Given the description of an element on the screen output the (x, y) to click on. 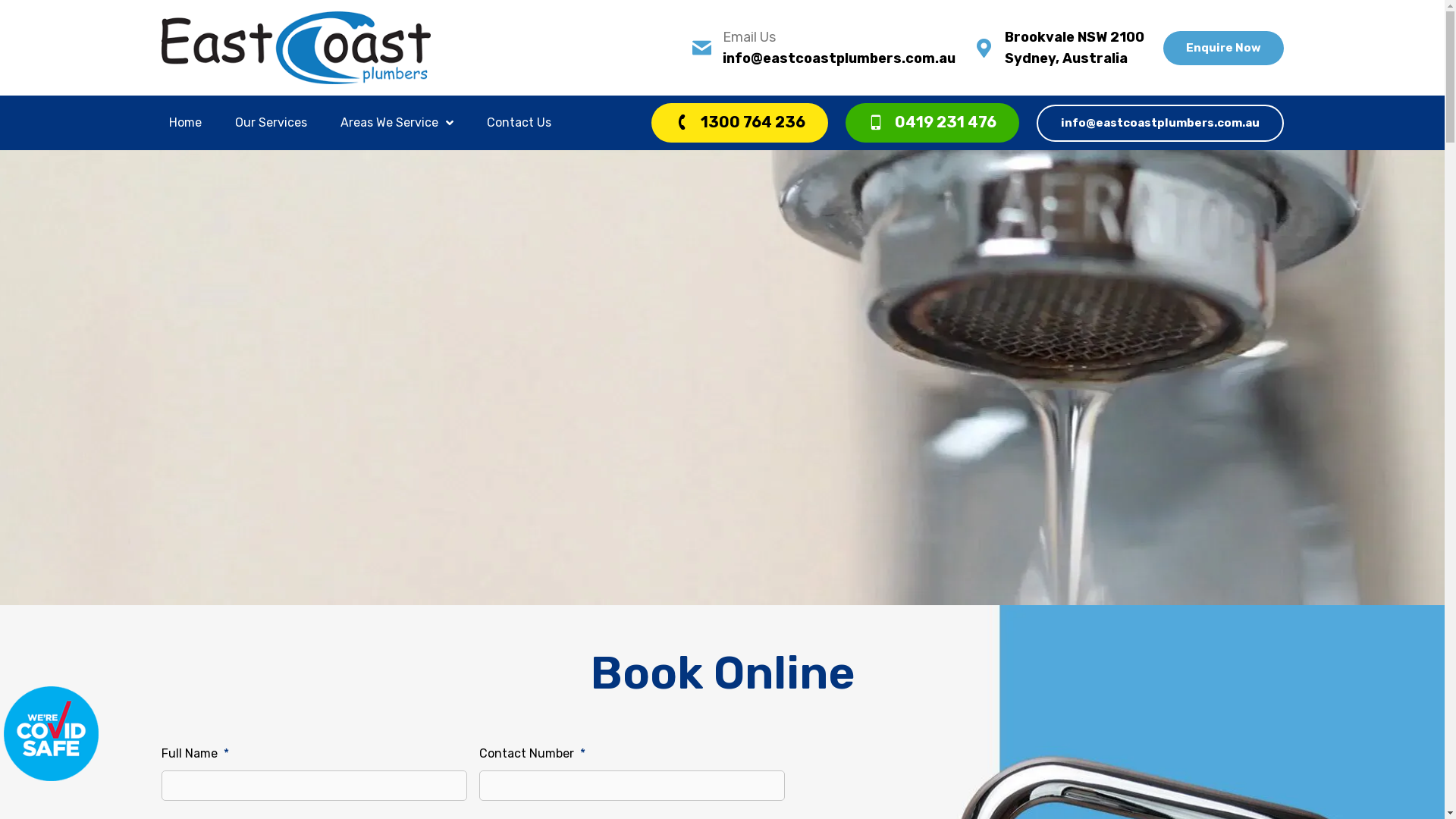
1300 764 236 Element type: text (738, 122)
Home Element type: text (184, 122)
info@eastcoastplumbers.com.au Element type: text (1159, 122)
Enquire Now Element type: text (1223, 48)
Areas We Service Element type: text (396, 122)
0419 231 476 Element type: text (932, 122)
info@eastcoastplumbers.com.au Element type: text (837, 58)
Our Services Element type: text (270, 122)
Contact Us Element type: text (518, 122)
